Given the description of an element on the screen output the (x, y) to click on. 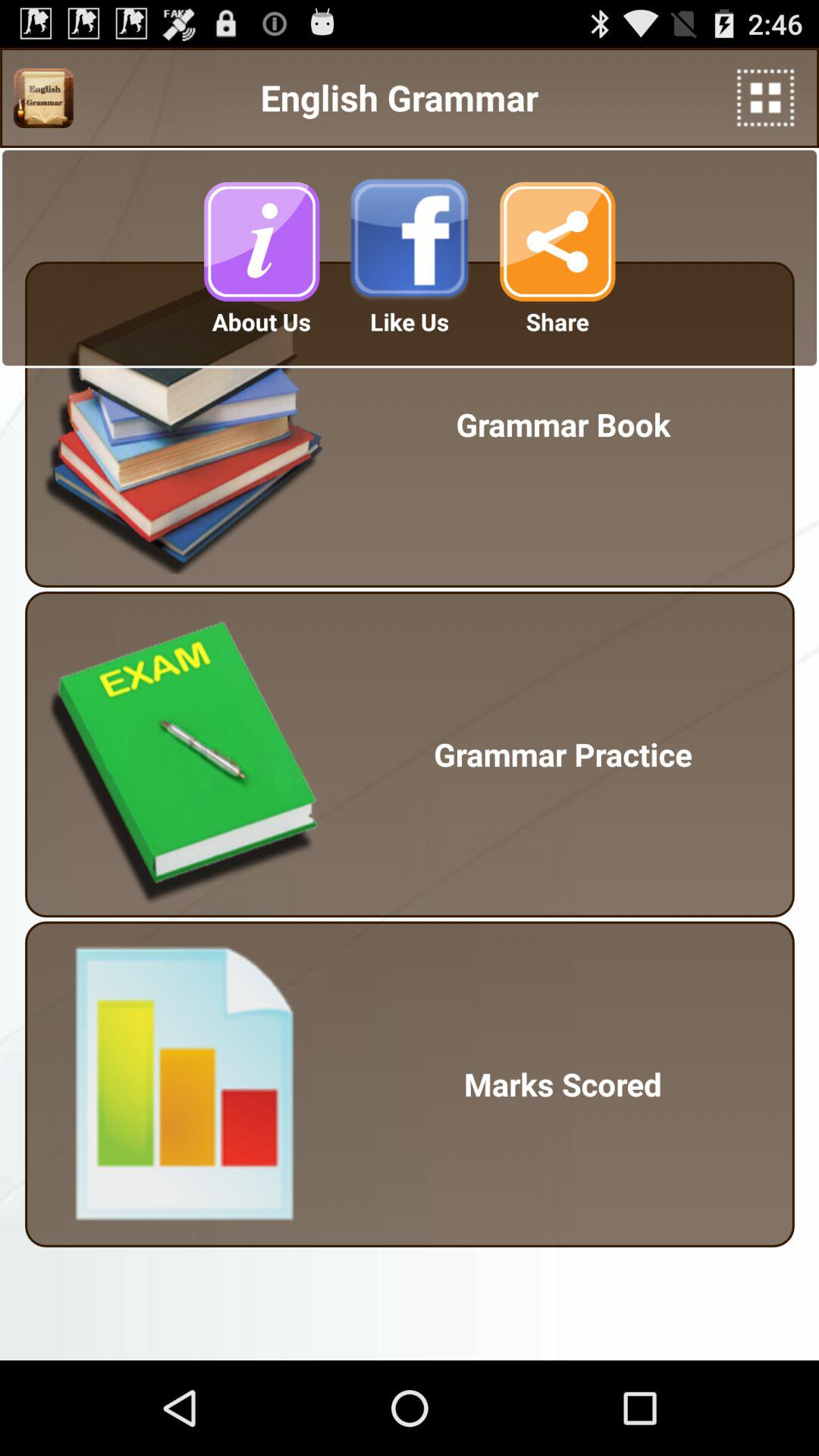
visit facebook page (409, 241)
